Given the description of an element on the screen output the (x, y) to click on. 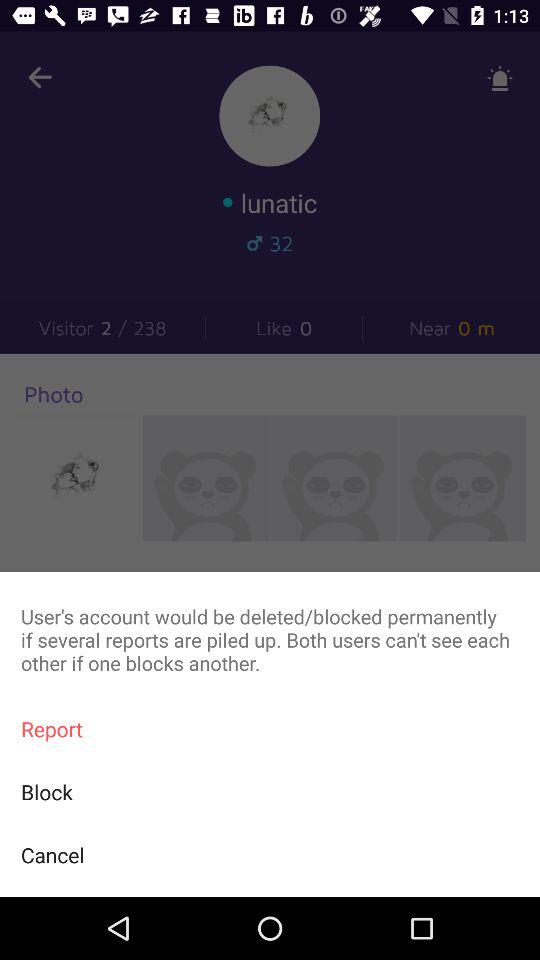
turn off icon below the report item (270, 791)
